Given the description of an element on the screen output the (x, y) to click on. 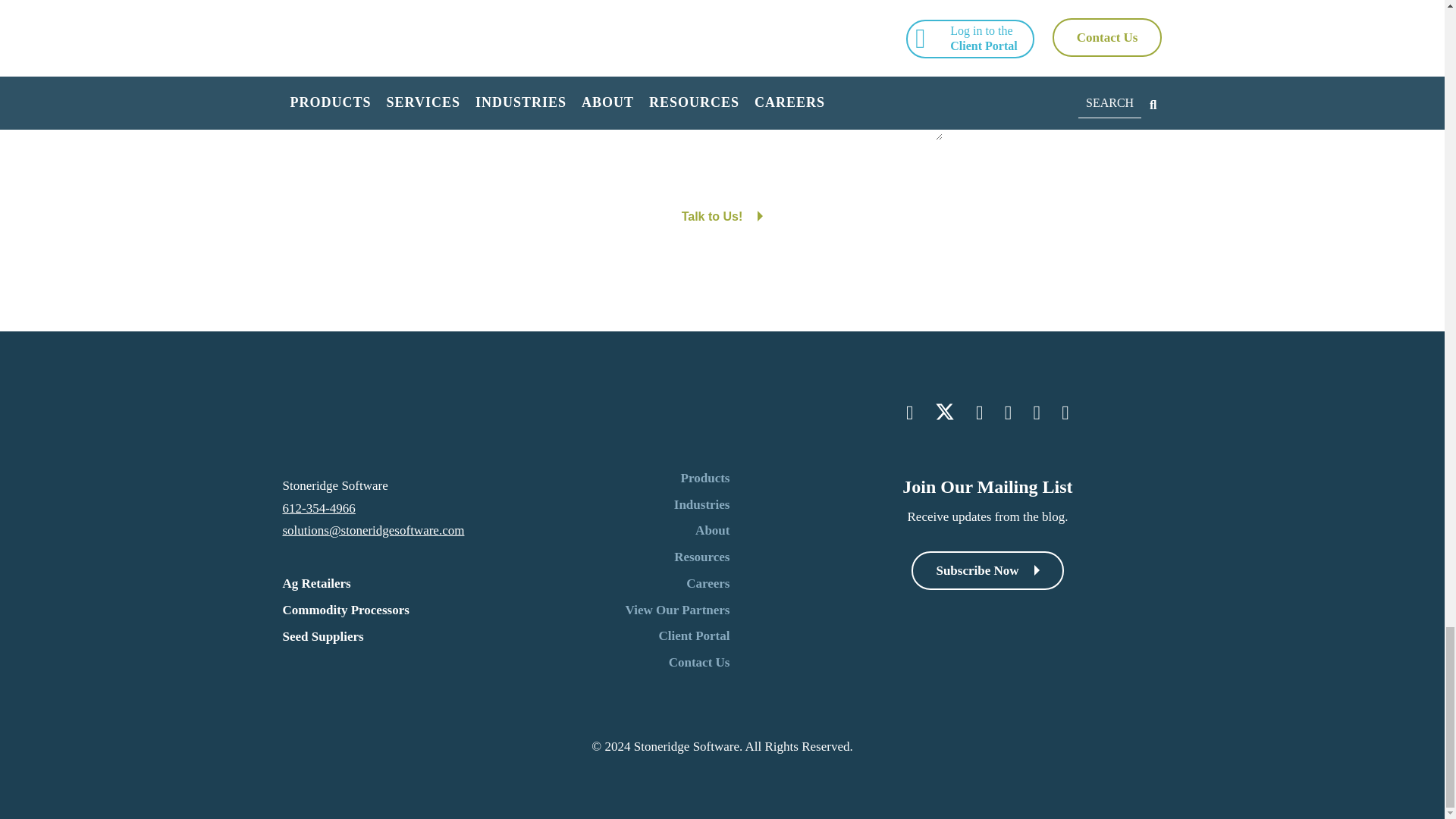
Phone Number (824, 13)
Website Comments (722, 48)
Website Comments (722, 102)
E-mail (604, 13)
